Given the description of an element on the screen output the (x, y) to click on. 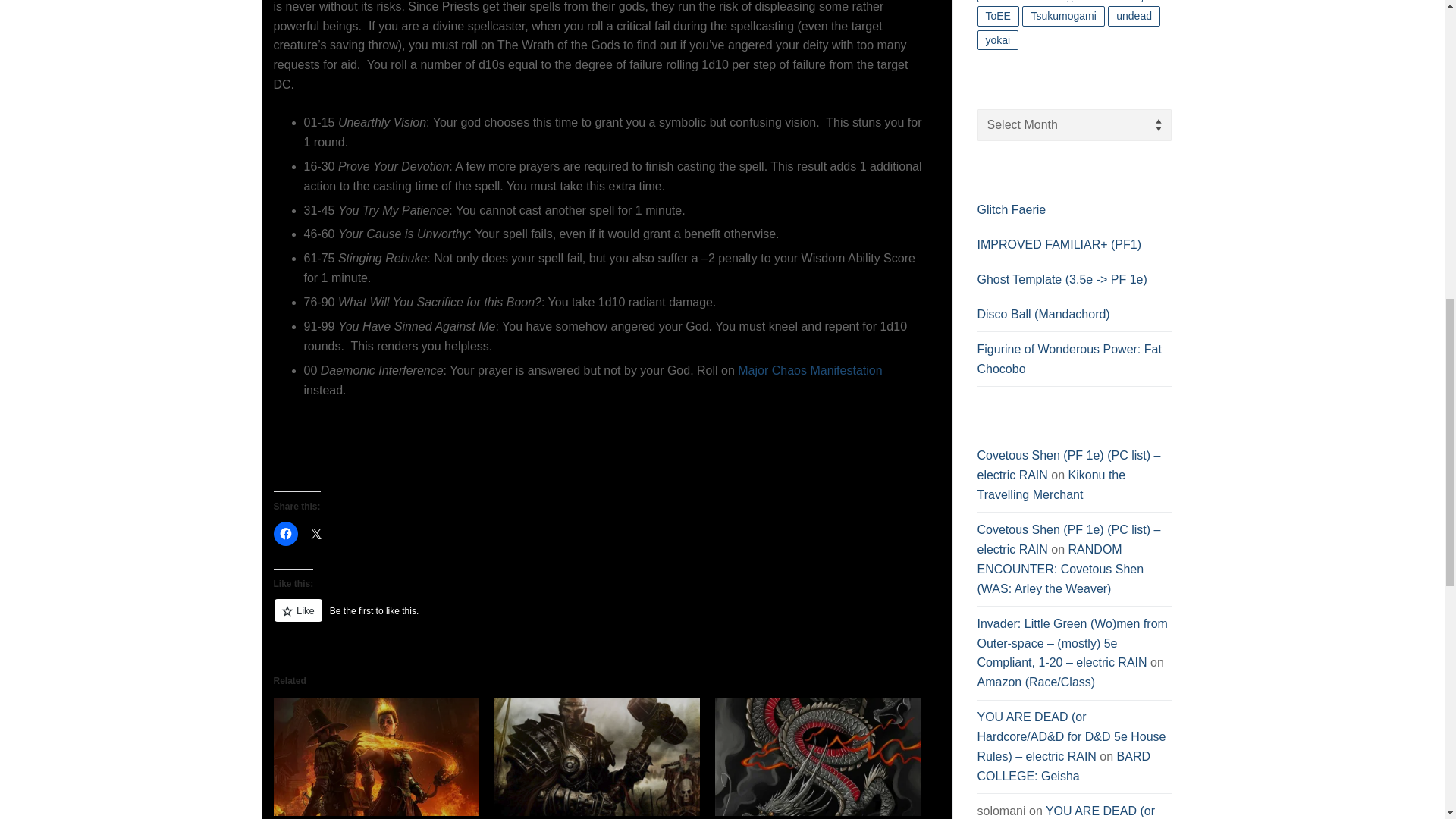
AMATATSU SEAL (757, 818)
Like or Reblog (600, 618)
Major Chaos Manifestation (810, 369)
Click to share on X (314, 533)
Click to share on Facebook (285, 533)
